Given the description of an element on the screen output the (x, y) to click on. 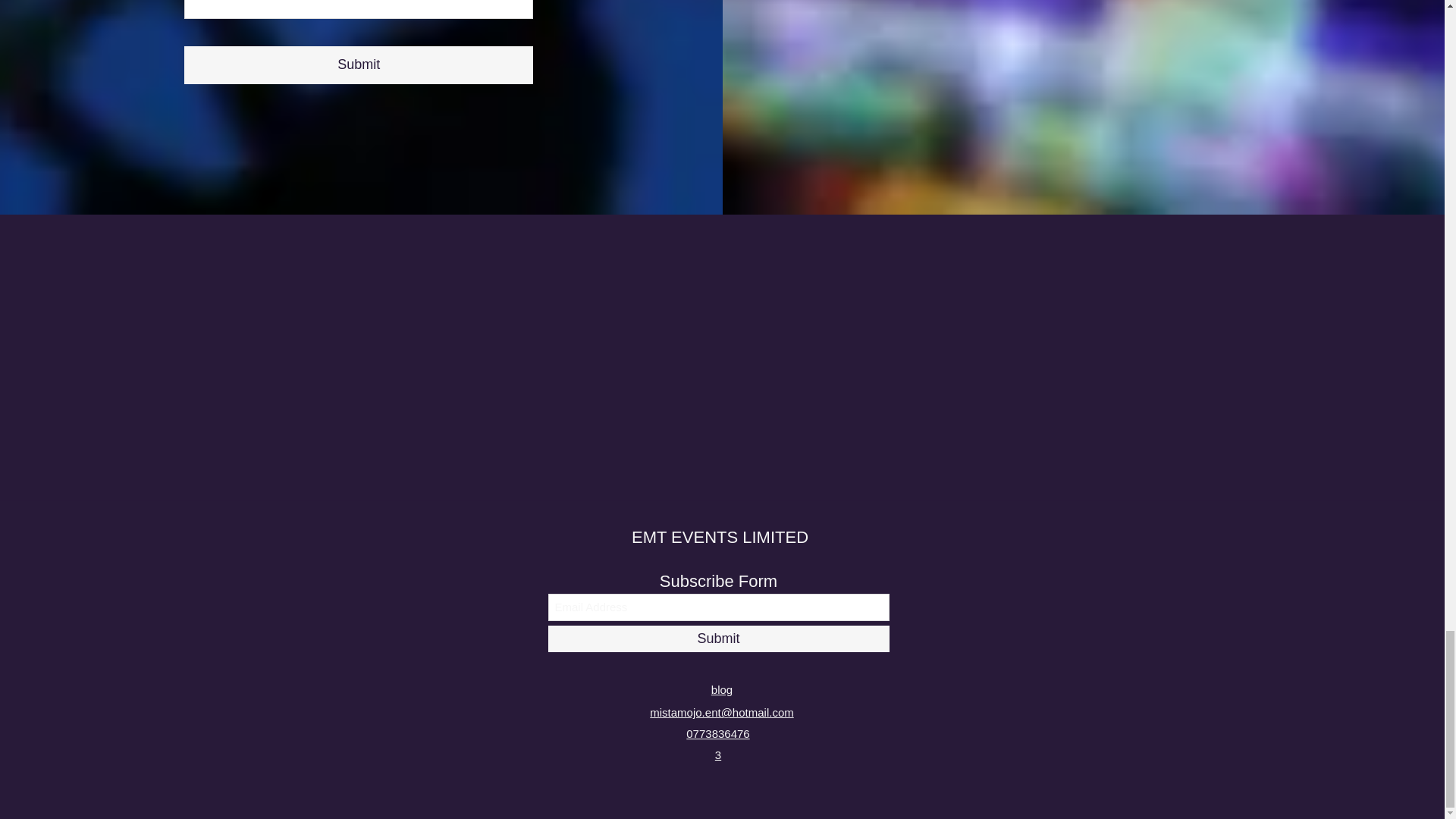
blog (721, 689)
EMT EVENTS LIMITED (719, 537)
Submit (358, 64)
07738364763 (717, 744)
Submit (717, 638)
